Given the description of an element on the screen output the (x, y) to click on. 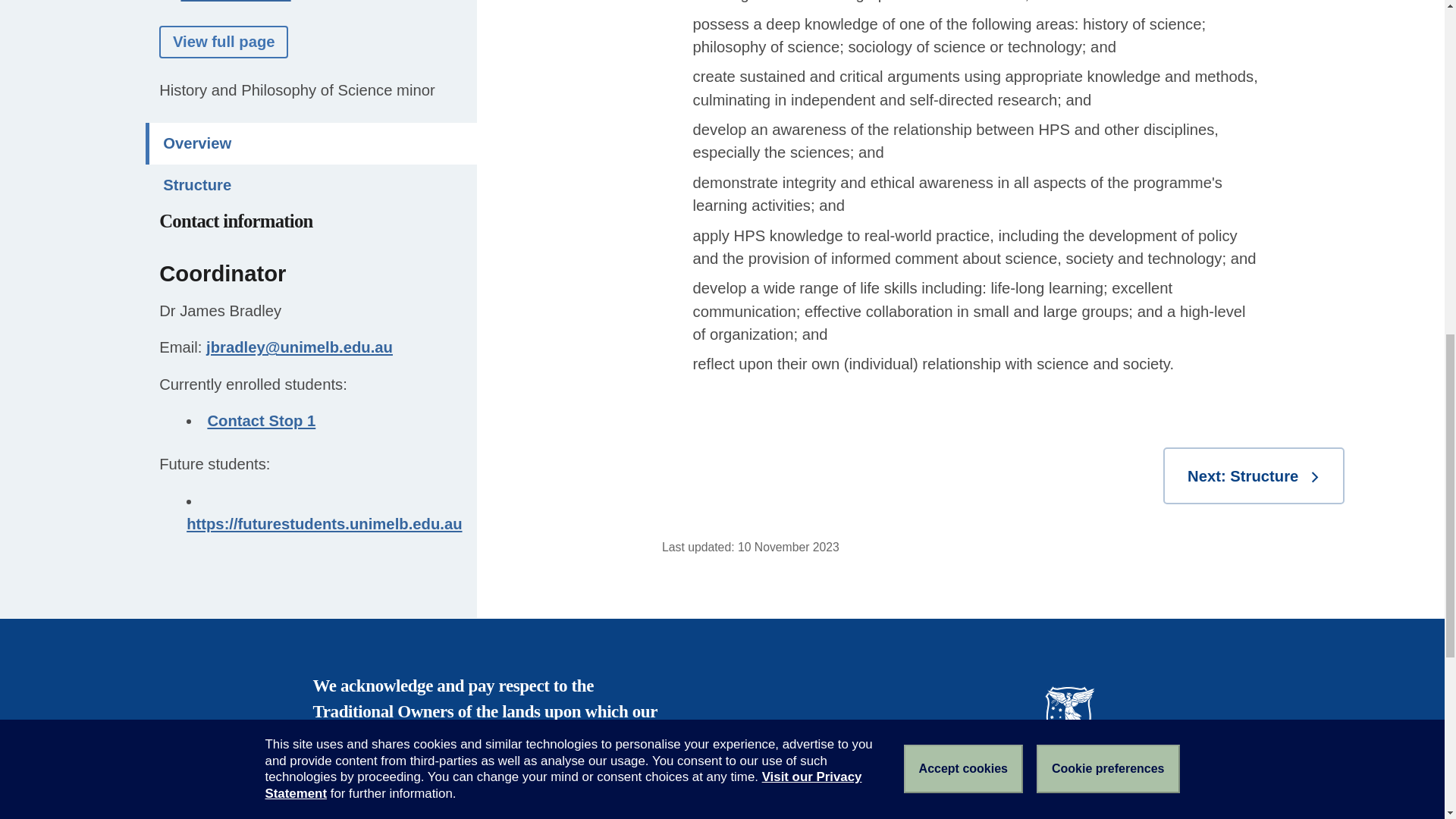
LinkedIn (1083, 816)
Contact Stop 1 (260, 47)
Twitter (1051, 816)
Next: Structure (1253, 475)
Instagram (1115, 816)
Facebook (1019, 816)
Read about our commitment to reconciliation (470, 775)
